Given the description of an element on the screen output the (x, y) to click on. 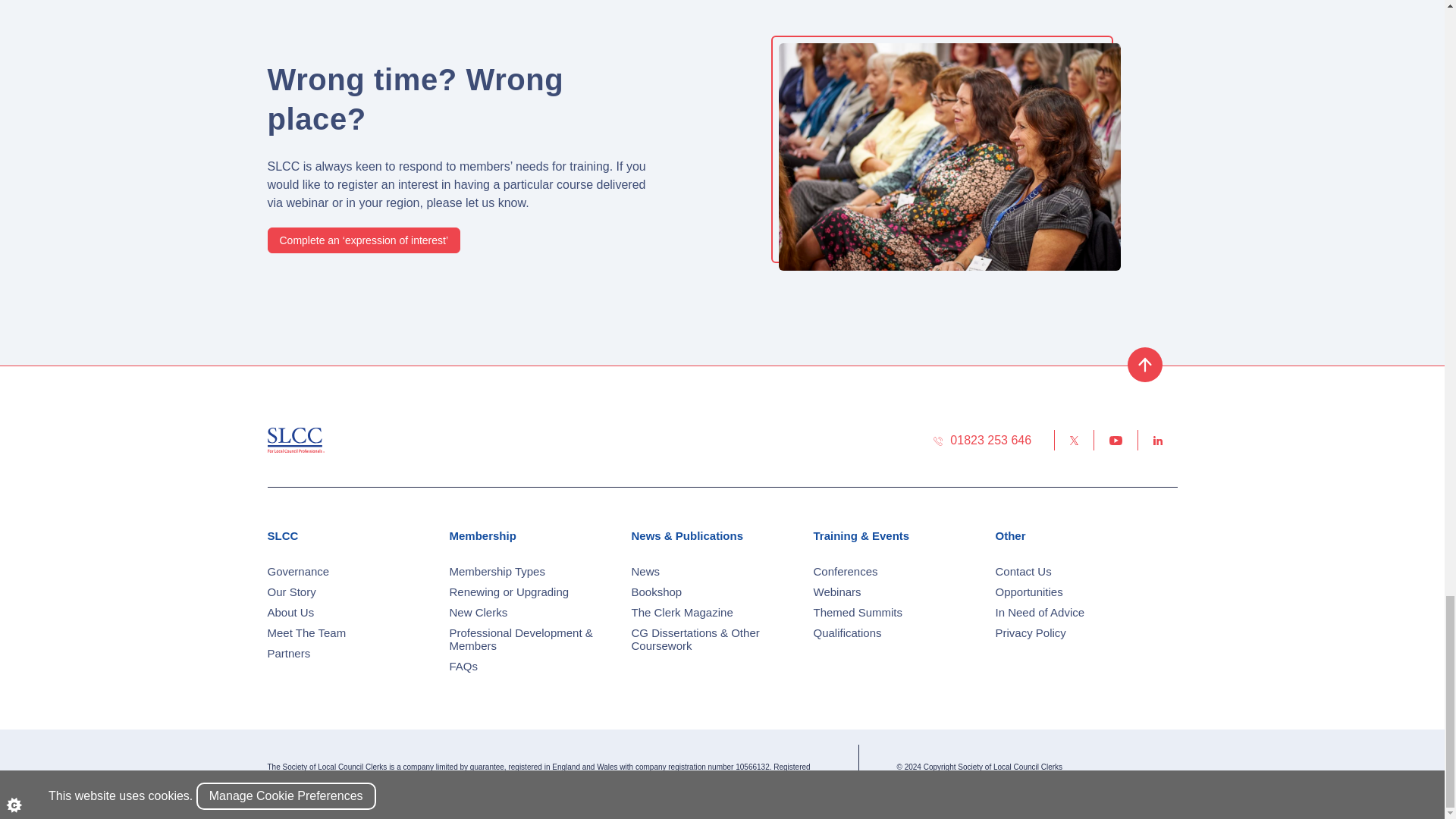
SLCC (294, 439)
